Given the description of an element on the screen output the (x, y) to click on. 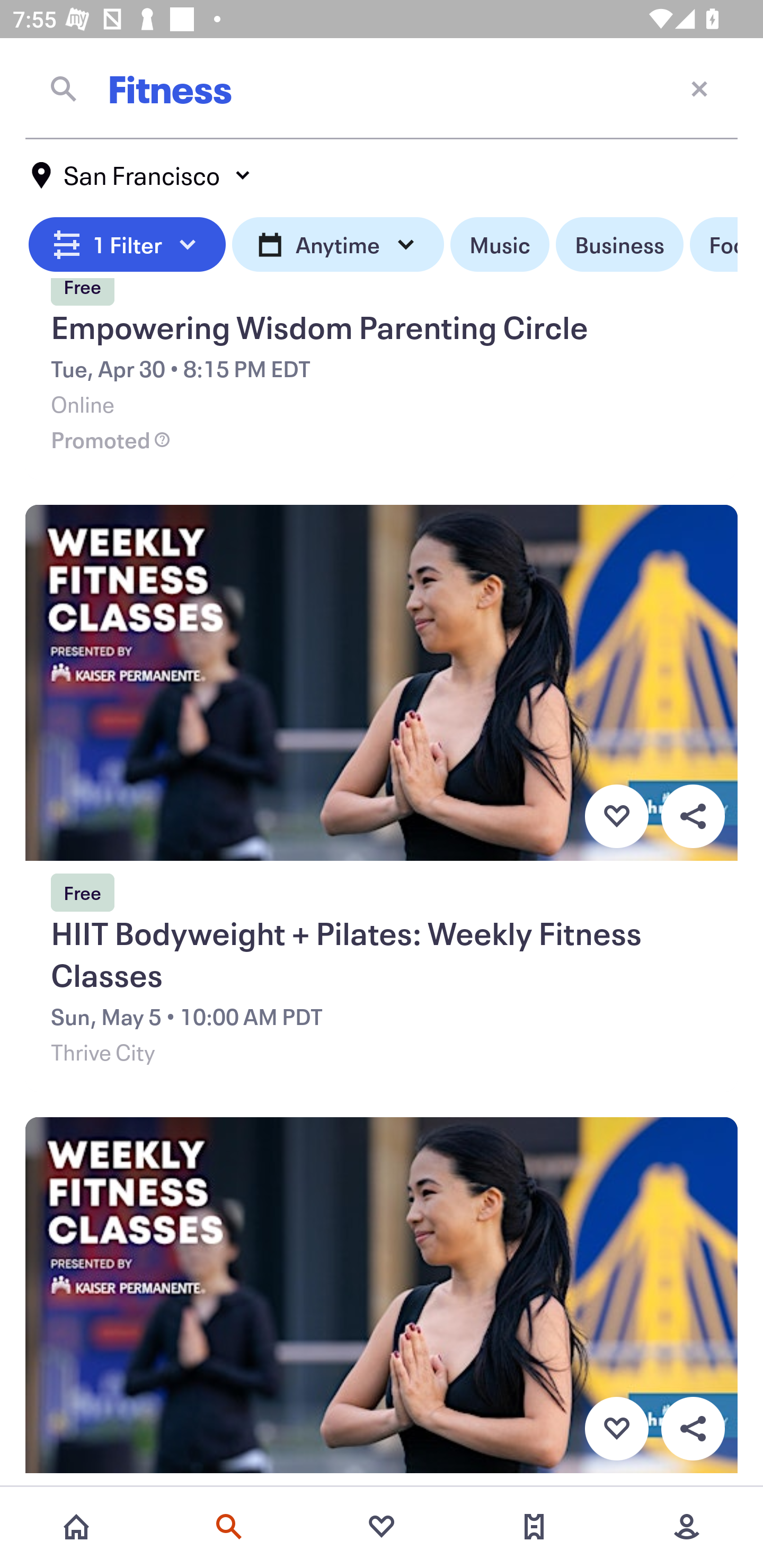
Fitness Close current screen (381, 88)
Close current screen (699, 88)
San Francisco (141, 175)
Favorite button (616, 815)
Overflow menu button (692, 815)
Event's image Favorite button Overflow menu button (381, 1303)
Favorite button (616, 1428)
Overflow menu button (692, 1428)
Home (76, 1526)
Search events (228, 1526)
Favorites (381, 1526)
Tickets (533, 1526)
More (686, 1526)
